Given the description of an element on the screen output the (x, y) to click on. 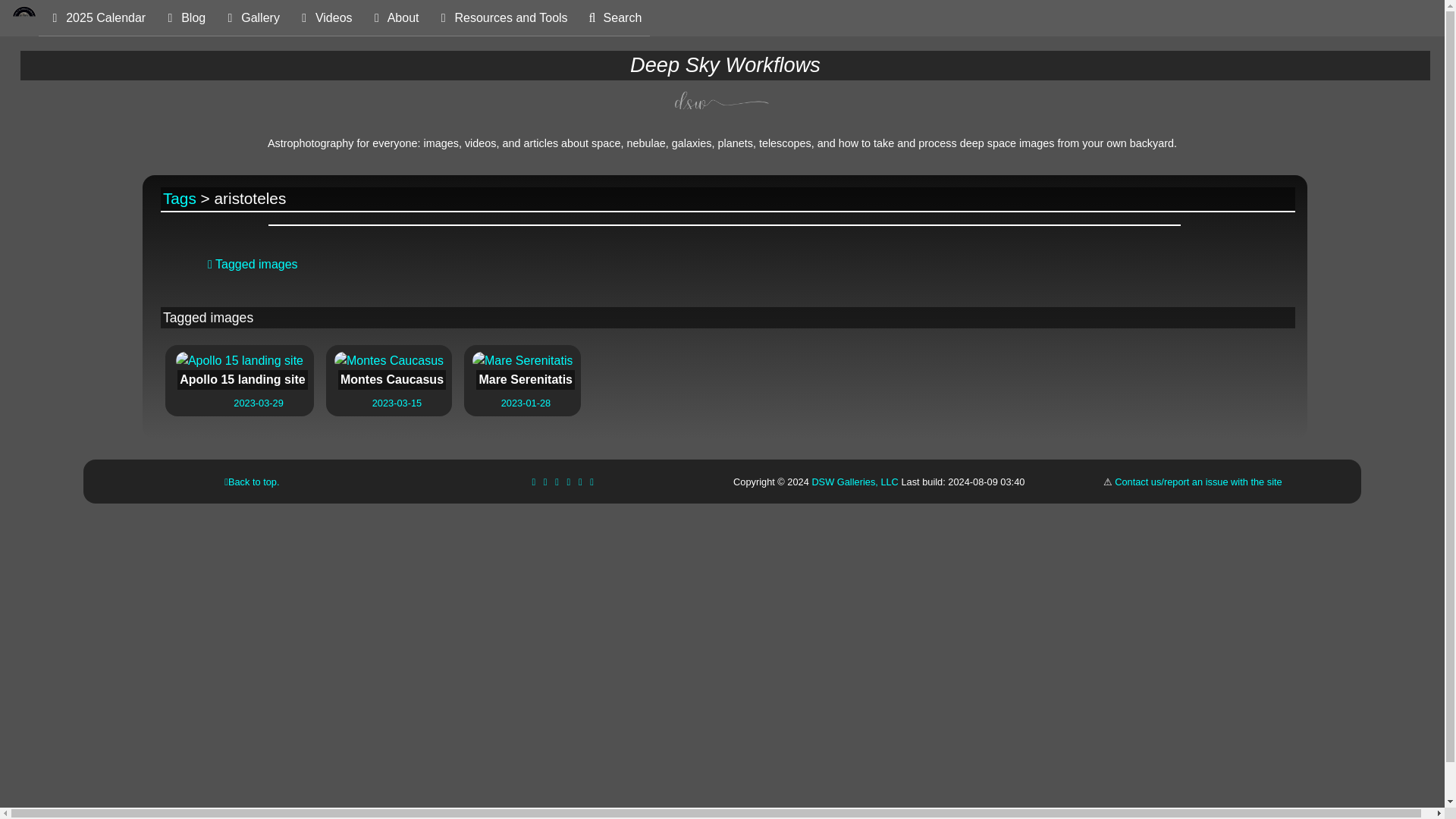
Tagged images (253, 264)
About (393, 18)
2025 Calendar (95, 18)
Tags (179, 198)
Videos (323, 18)
Gallery (250, 18)
Search (522, 370)
Resources and Tools (612, 18)
